Given the description of an element on the screen output the (x, y) to click on. 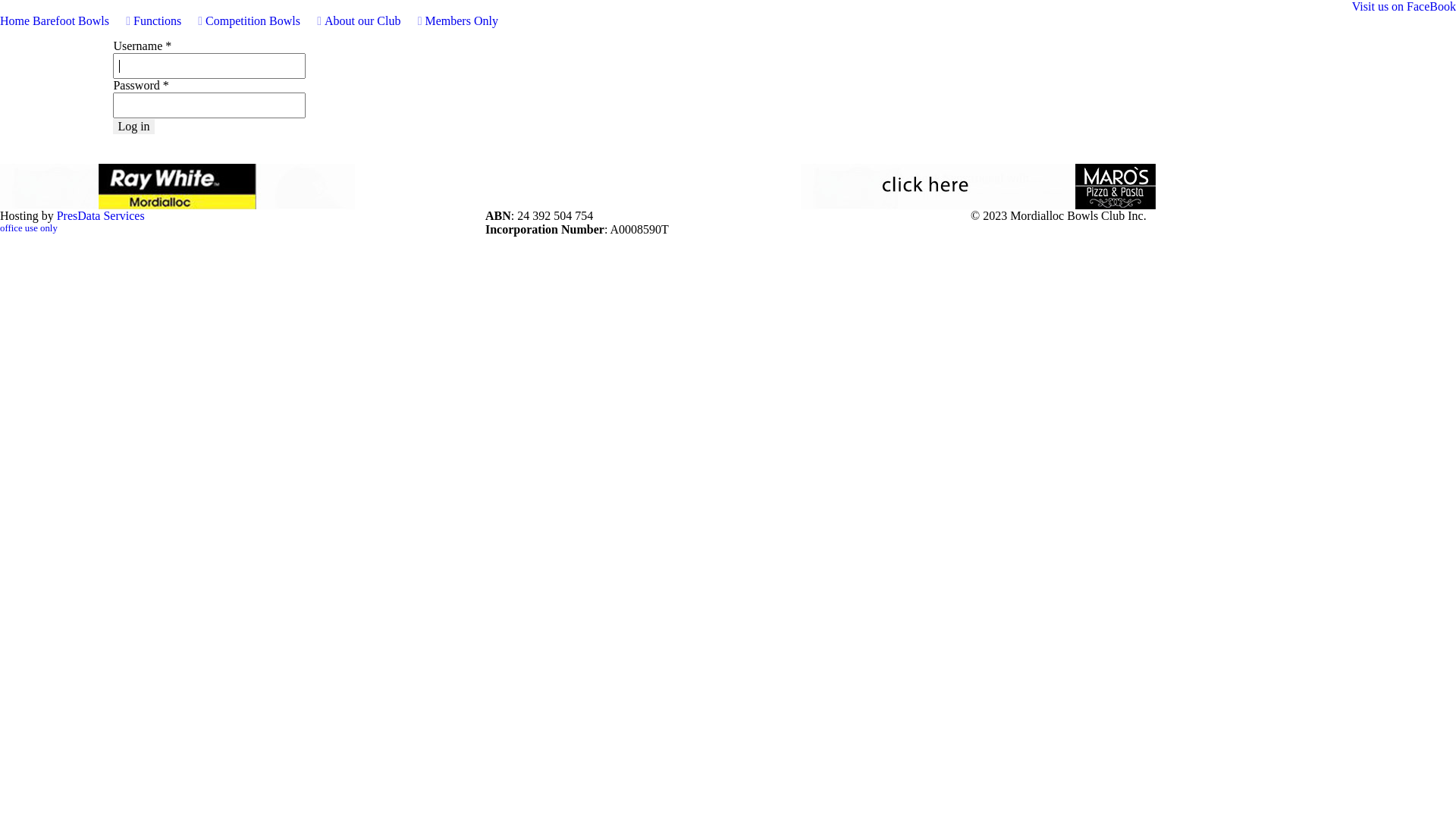
Members Only Element type: text (460, 20)
Home Element type: text (14, 20)
office use only Element type: text (28, 227)
PresData Services Element type: text (100, 215)
Competition Bowls Element type: text (263, 20)
Maros Pizza & Pasta Element type: hover (977, 184)
Log in Element type: text (132, 126)
About our Club Element type: text (372, 20)
Barefoot Bowls Element type: text (81, 20)
Functions Element type: text (167, 20)
Ray White Real Estate Element type: hover (177, 184)
